Given the description of an element on the screen output the (x, y) to click on. 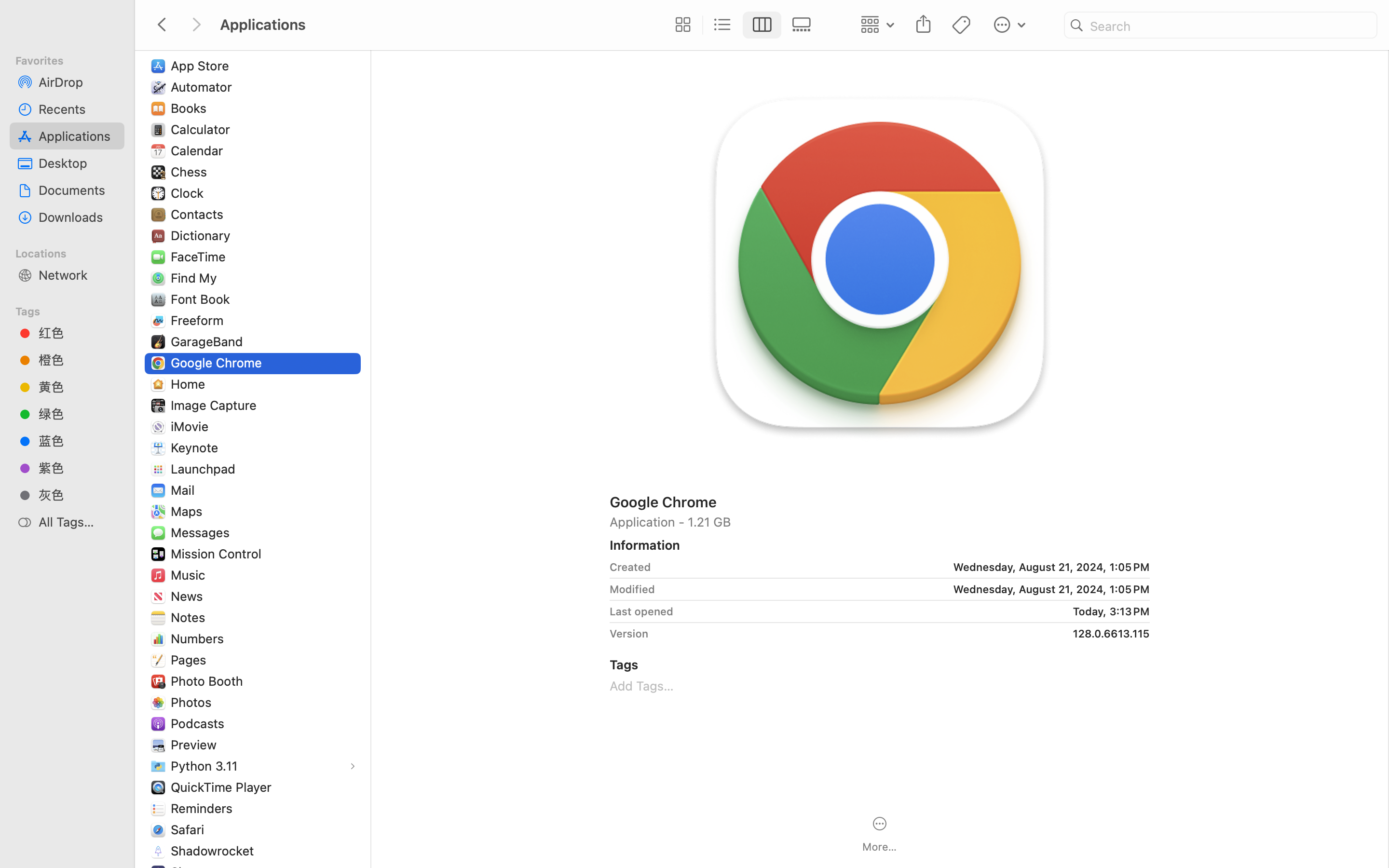
1 Element type: AXRadioButton (762, 24)
Clock Element type: AXTextField (189, 192)
Python 3.11 Element type: AXTextField (206, 765)
Information Element type: AXStaticText (644, 544)
Calendar Element type: AXTextField (198, 150)
